Given the description of an element on the screen output the (x, y) to click on. 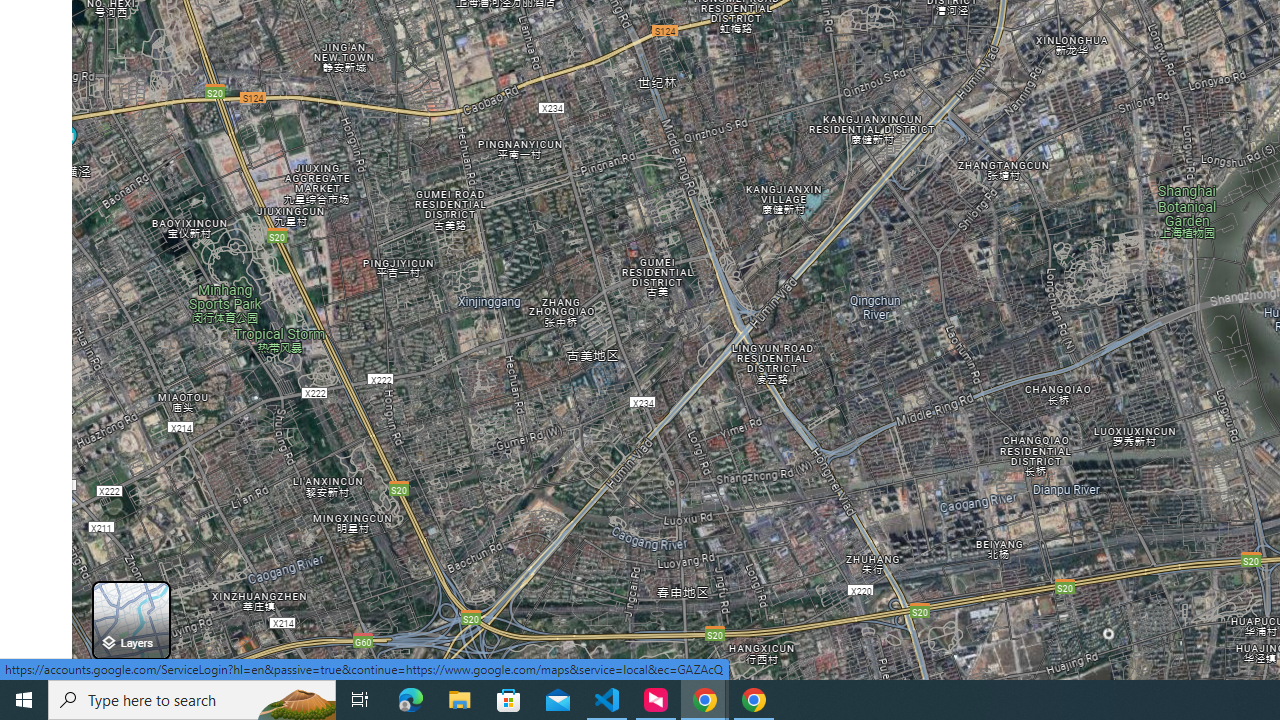
Layers (130, 620)
